Given the description of an element on the screen output the (x, y) to click on. 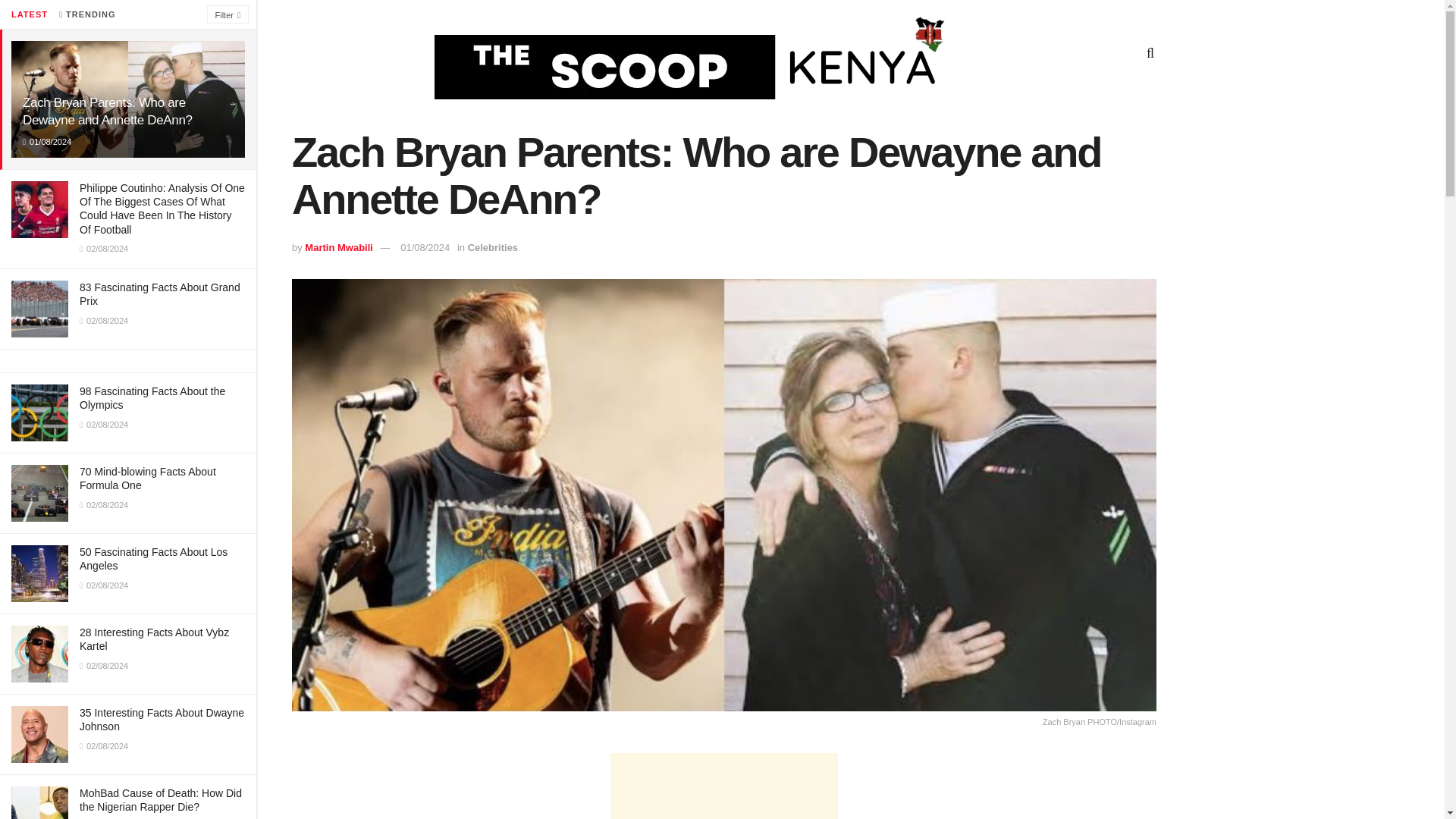
98 Fascinating Facts About the Olympics (152, 397)
28 Interesting Facts About Vybz Kartel (154, 638)
MohBad Cause of Death: How Did the Nigerian Rapper Die? (160, 800)
70 Mind-blowing Facts About Formula One (147, 478)
50 Fascinating Facts About Los Angeles (153, 558)
Filter (227, 13)
Zach Bryan Parents: Who are Dewayne and Annette DeAnn? (107, 111)
83 Fascinating Facts About Grand Prix (160, 294)
35 Interesting Facts About Dwayne Johnson (162, 719)
